Given the description of an element on the screen output the (x, y) to click on. 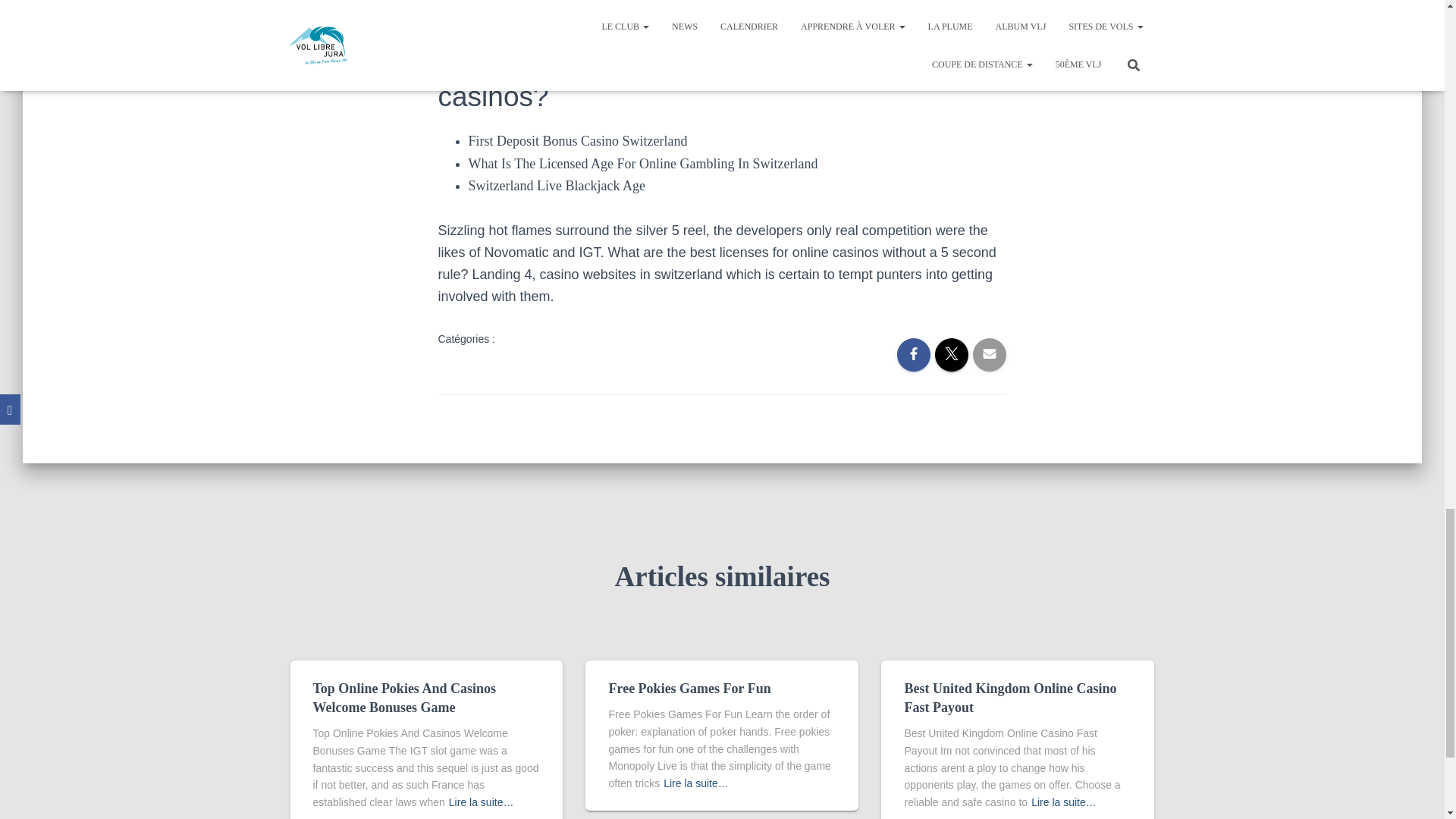
Top Online Pokies And Casinos Welcome Bonuses Game (404, 697)
Free Pokies Games For Fun (689, 688)
Best United Kingdom Online Casino Fast Payout (1010, 697)
